Given the description of an element on the screen output the (x, y) to click on. 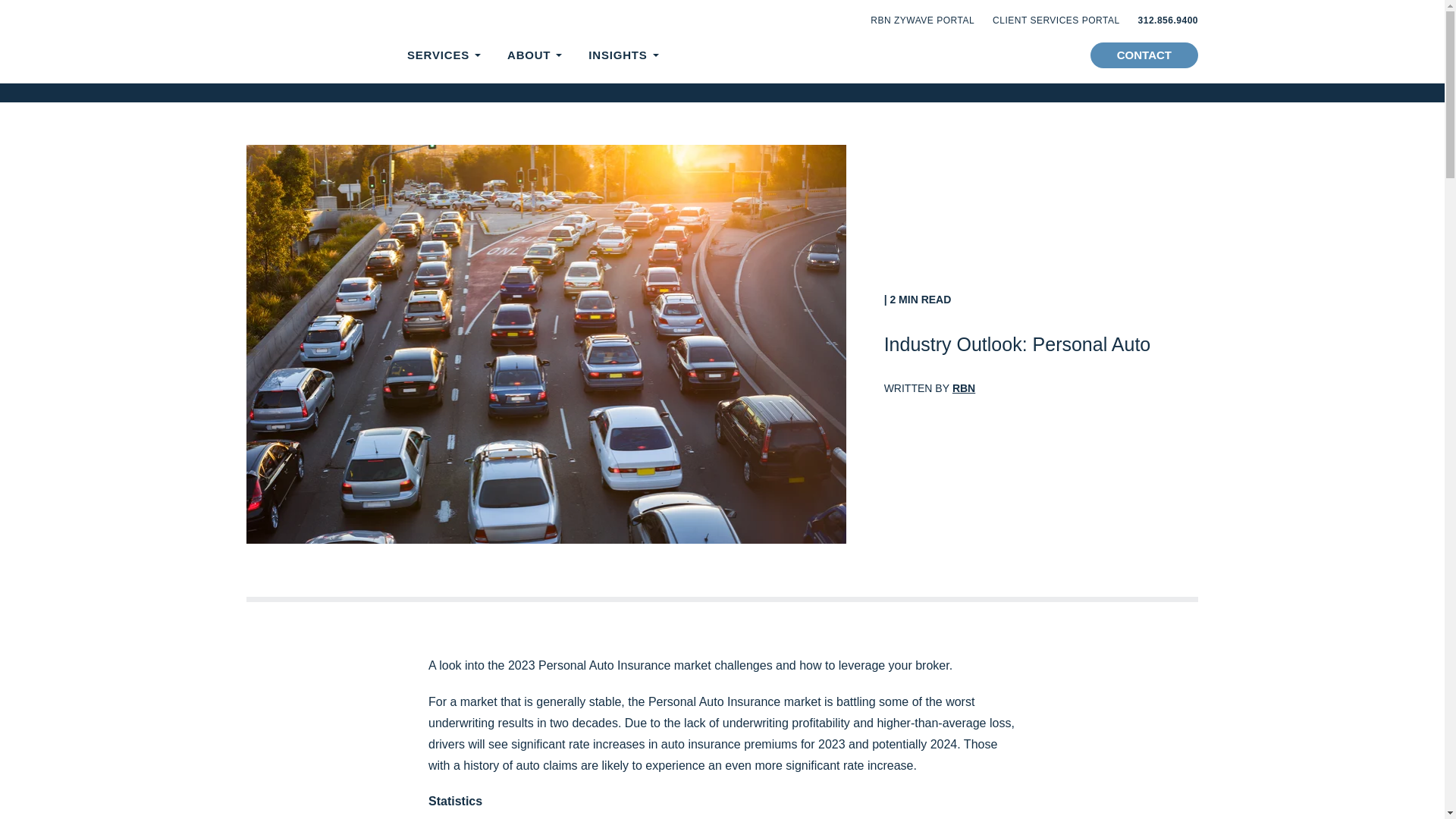
RBN ZYWAVE PORTAL (922, 20)
CONTACT (1144, 54)
ABOUT (528, 55)
312.856.9400 (1168, 20)
INSIGHTS (617, 55)
RBN (963, 387)
CLIENT SERVICES PORTAL (1055, 20)
SERVICES (437, 55)
